Given the description of an element on the screen output the (x, y) to click on. 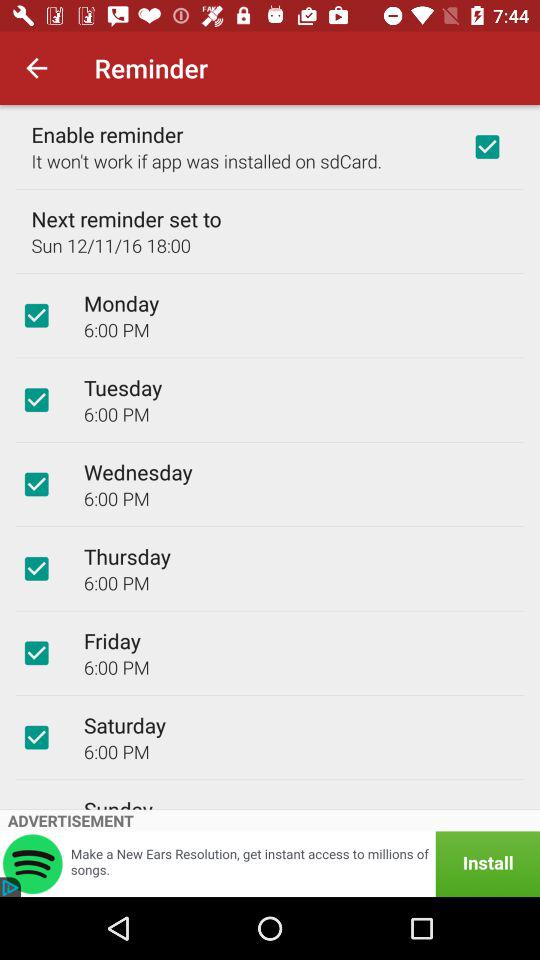
select option (36, 653)
